Given the description of an element on the screen output the (x, y) to click on. 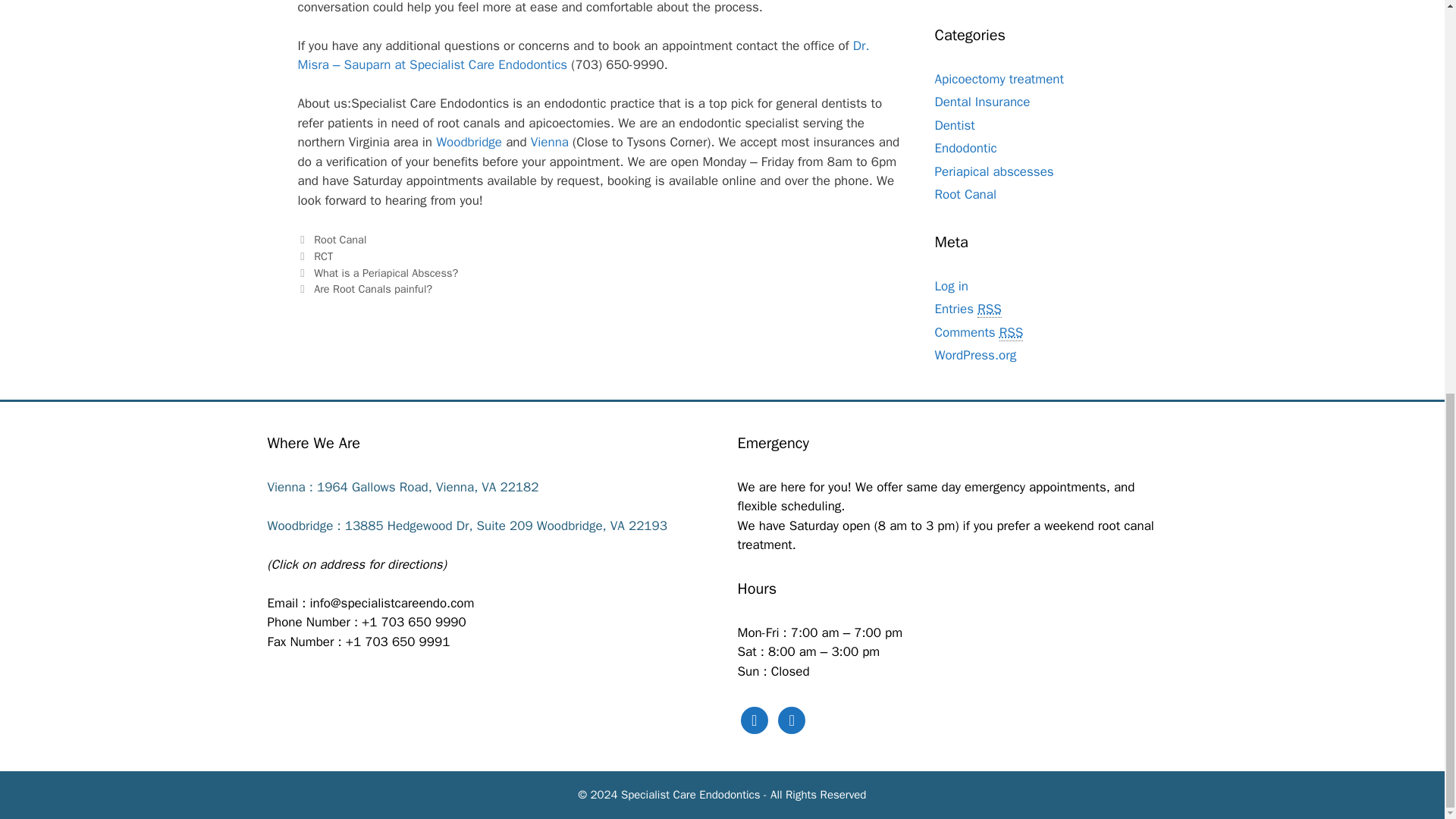
Are Root Canals painful? (373, 288)
RCT (323, 255)
Woodbridge (470, 141)
Really Simple Syndication (988, 309)
Really Simple Syndication (1010, 332)
Vienna (551, 141)
Root Canal (340, 239)
What is a Periapical Abscess? (386, 273)
